Given the description of an element on the screen output the (x, y) to click on. 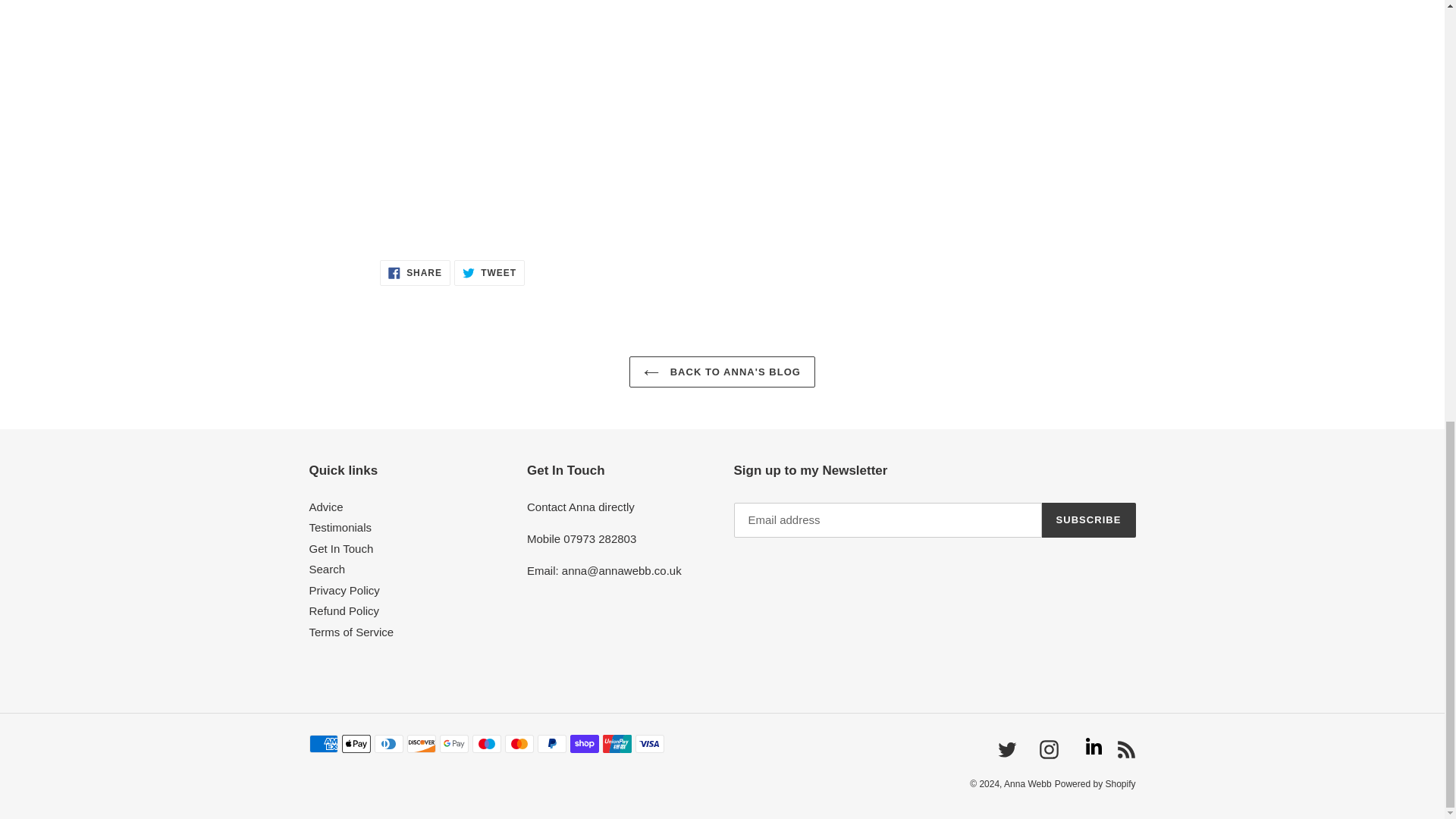
BACK TO ANNA'S BLOG (414, 272)
